Given the description of an element on the screen output the (x, y) to click on. 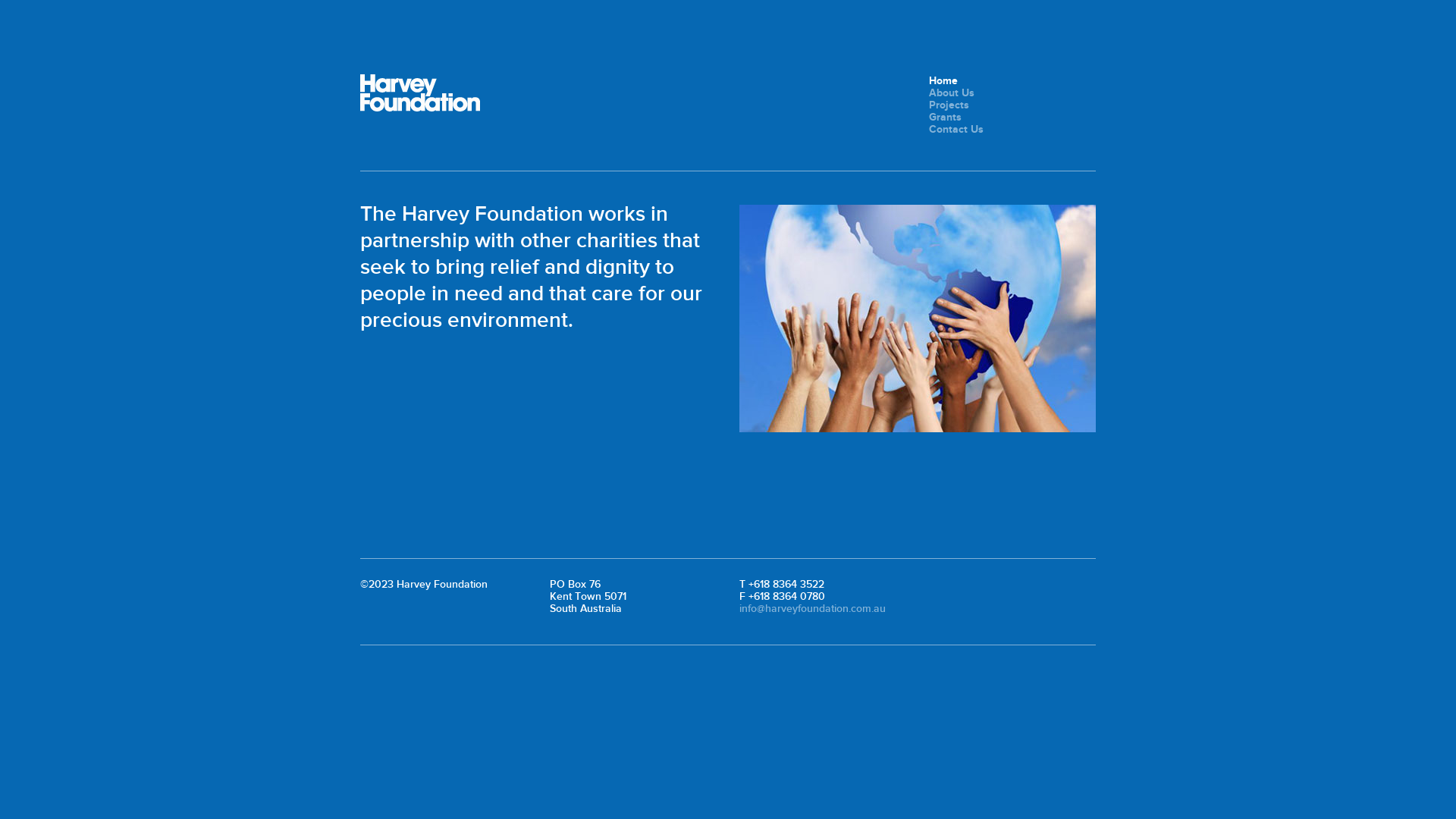
Contact Us Element type: text (955, 128)
info@harveyfoundation.com.au Element type: text (812, 608)
Harvey Foundation Element type: text (420, 92)
About Us Element type: text (951, 92)
Projects Element type: text (948, 104)
Home Element type: text (942, 80)
Grants Element type: text (944, 116)
